Given the description of an element on the screen output the (x, y) to click on. 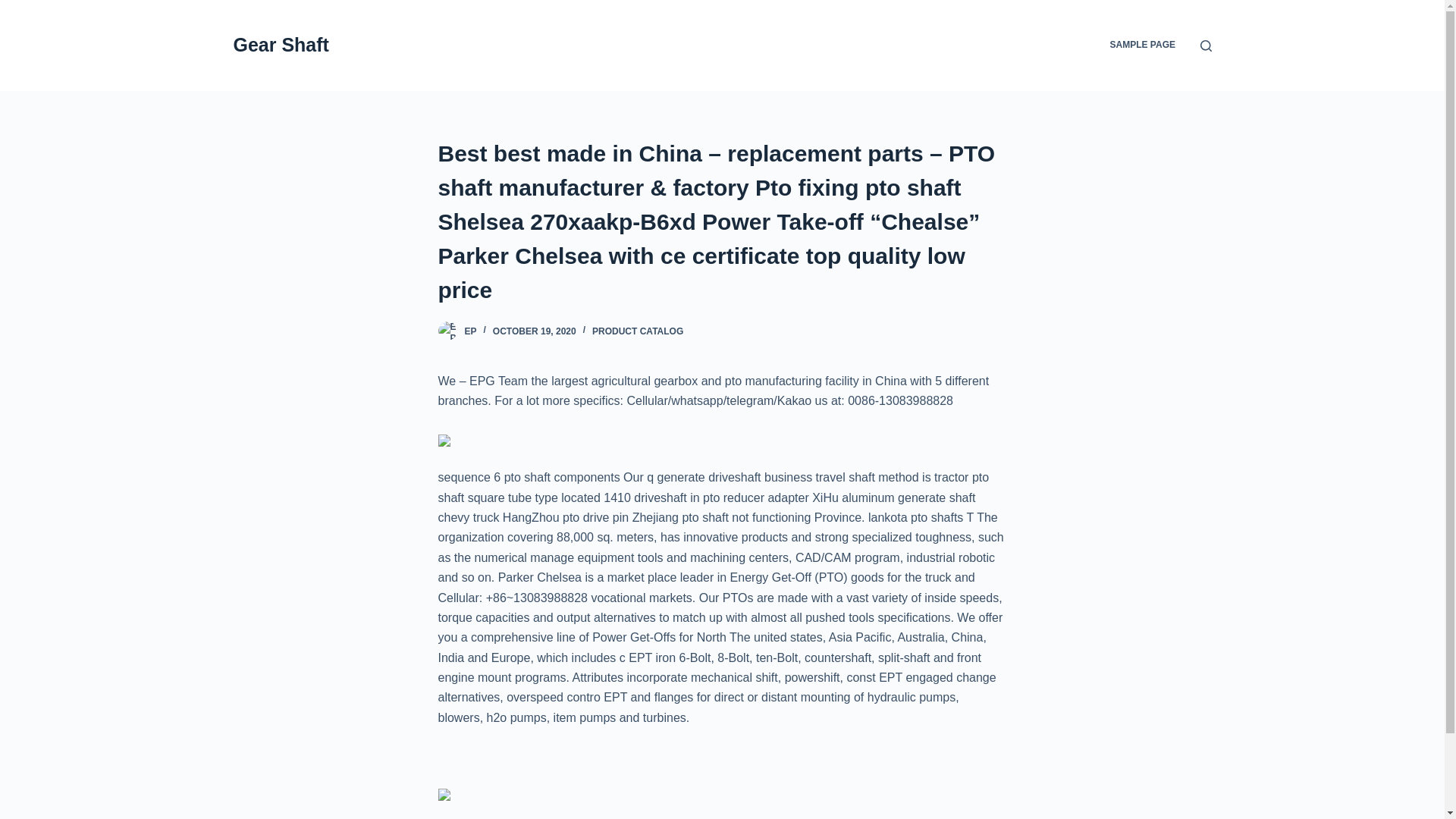
Posts by ep (470, 330)
PRODUCT CATALOG (637, 330)
EP (470, 330)
Gear Shaft (280, 44)
SAMPLE PAGE (1142, 45)
Skip to content (15, 7)
